Given the description of an element on the screen output the (x, y) to click on. 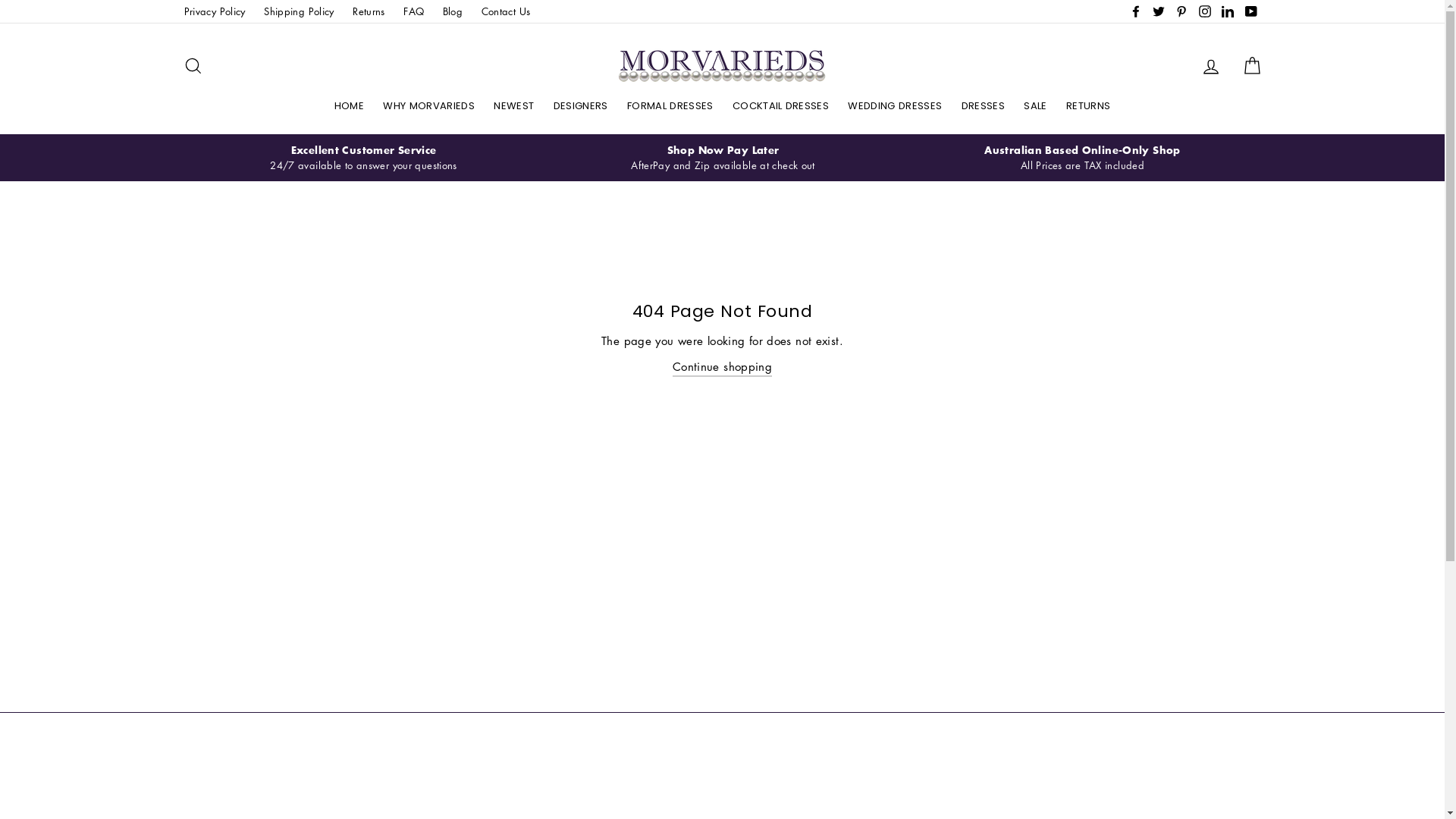
FAQ Element type: text (413, 11)
Log in Element type: text (1210, 65)
LinkedIn Element type: text (1227, 11)
Contact Us Element type: text (505, 11)
RETURNS Element type: text (1087, 105)
Facebook Element type: text (1135, 11)
Blog Element type: text (452, 11)
Skip to content Element type: text (0, 0)
Shipping Policy Element type: text (299, 11)
Cart Element type: text (1251, 65)
DESIGNERS Element type: text (580, 105)
NEWEST Element type: text (513, 105)
WEDDING DRESSES Element type: text (894, 105)
FORMAL DRESSES Element type: text (670, 105)
SALE Element type: text (1035, 105)
COCKTAIL DRESSES Element type: text (780, 105)
Instagram Element type: text (1204, 11)
Privacy Policy Element type: text (213, 11)
Search Element type: text (192, 65)
HOME Element type: text (348, 105)
Twitter Element type: text (1158, 11)
Pinterest Element type: text (1181, 11)
YouTube Element type: text (1250, 11)
WHY MORVARIEDS Element type: text (428, 105)
Returns Element type: text (368, 11)
Continue shopping Element type: text (721, 366)
DRESSES Element type: text (982, 105)
